Given the description of an element on the screen output the (x, y) to click on. 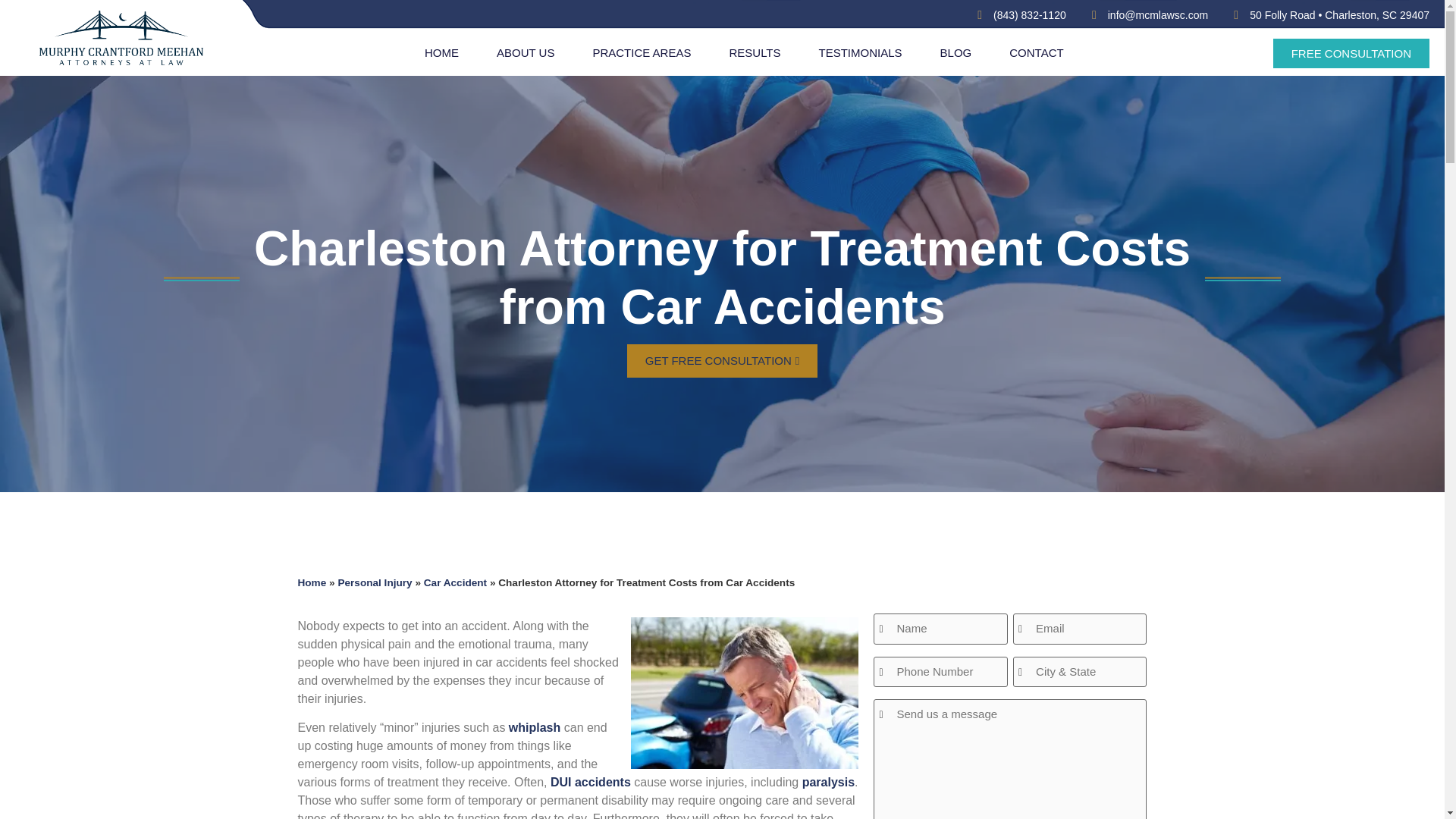
RESULTS (753, 53)
HOME (441, 53)
CONTACT (1036, 53)
PRACTICE AREAS (641, 53)
TESTIMONIALS (860, 53)
ABOUT US (525, 53)
cropped-CM-logo.png (120, 44)
BLOG (955, 53)
